Given the description of an element on the screen output the (x, y) to click on. 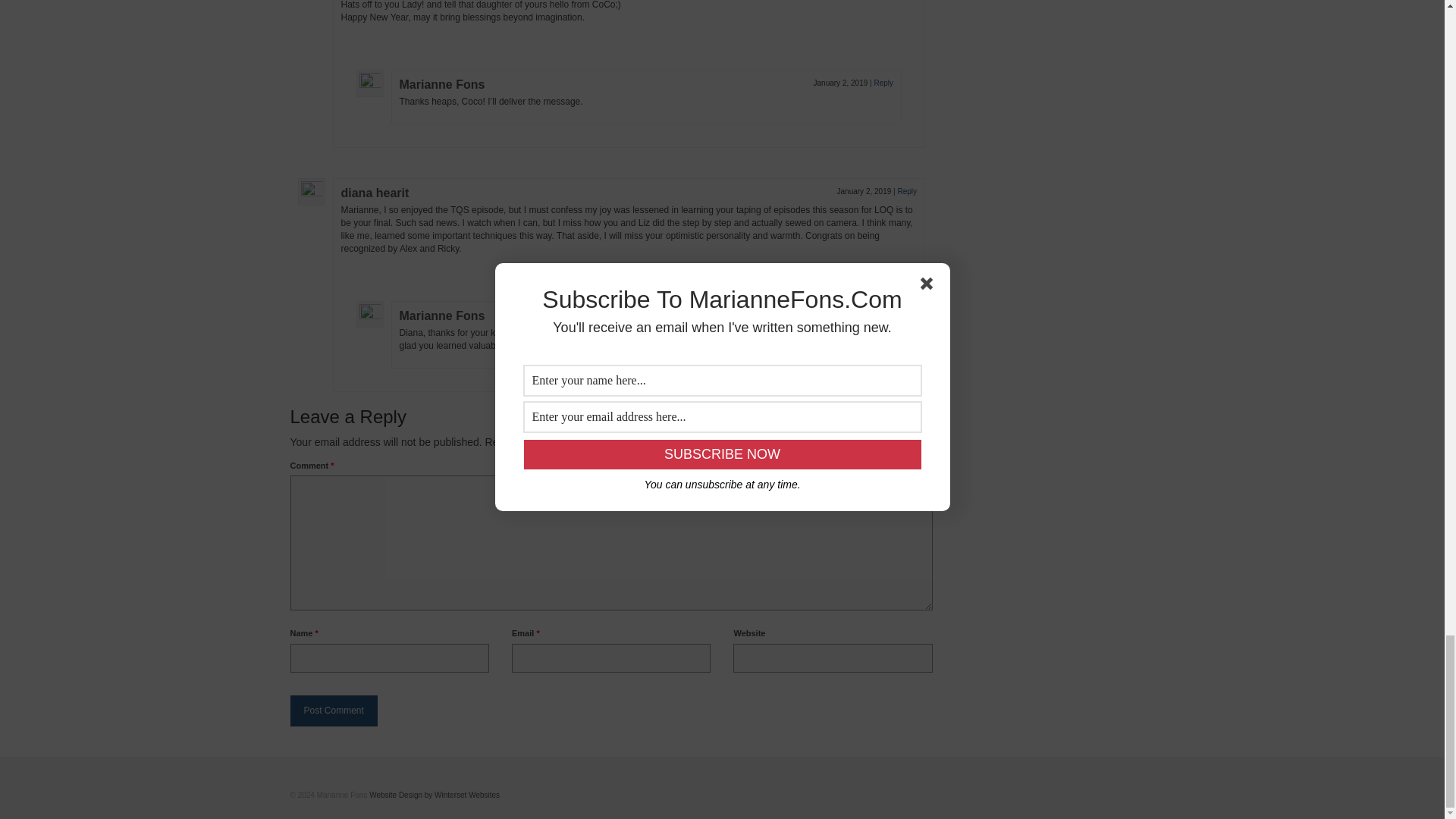
Post Comment (333, 710)
